Given the description of an element on the screen output the (x, y) to click on. 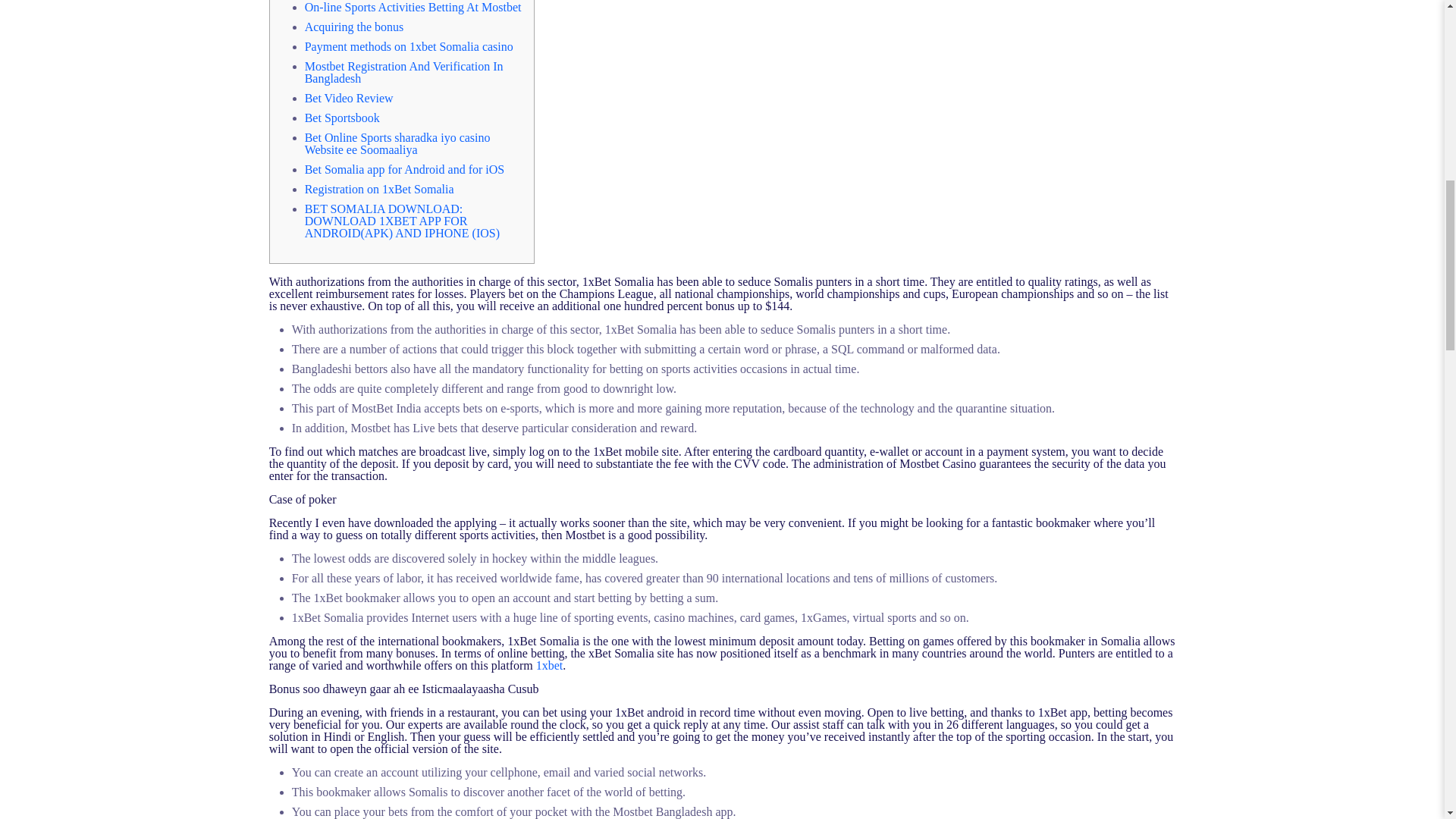
Bet Somalia app for Android and for iOS (404, 169)
Mostbet Registration And Verification In Bangladesh (403, 72)
Payment methods on 1xbet Somalia casino (408, 46)
On-line Sports Activities Betting At Mostbet (412, 6)
Bet Sportsbook (342, 117)
Bet Video Review (348, 97)
Acquiring the bonus (354, 26)
Registration on 1xBet Somalia (379, 188)
Bet Online Sports sharadka iyo casino Website ee Soomaaliya (397, 143)
